Given the description of an element on the screen output the (x, y) to click on. 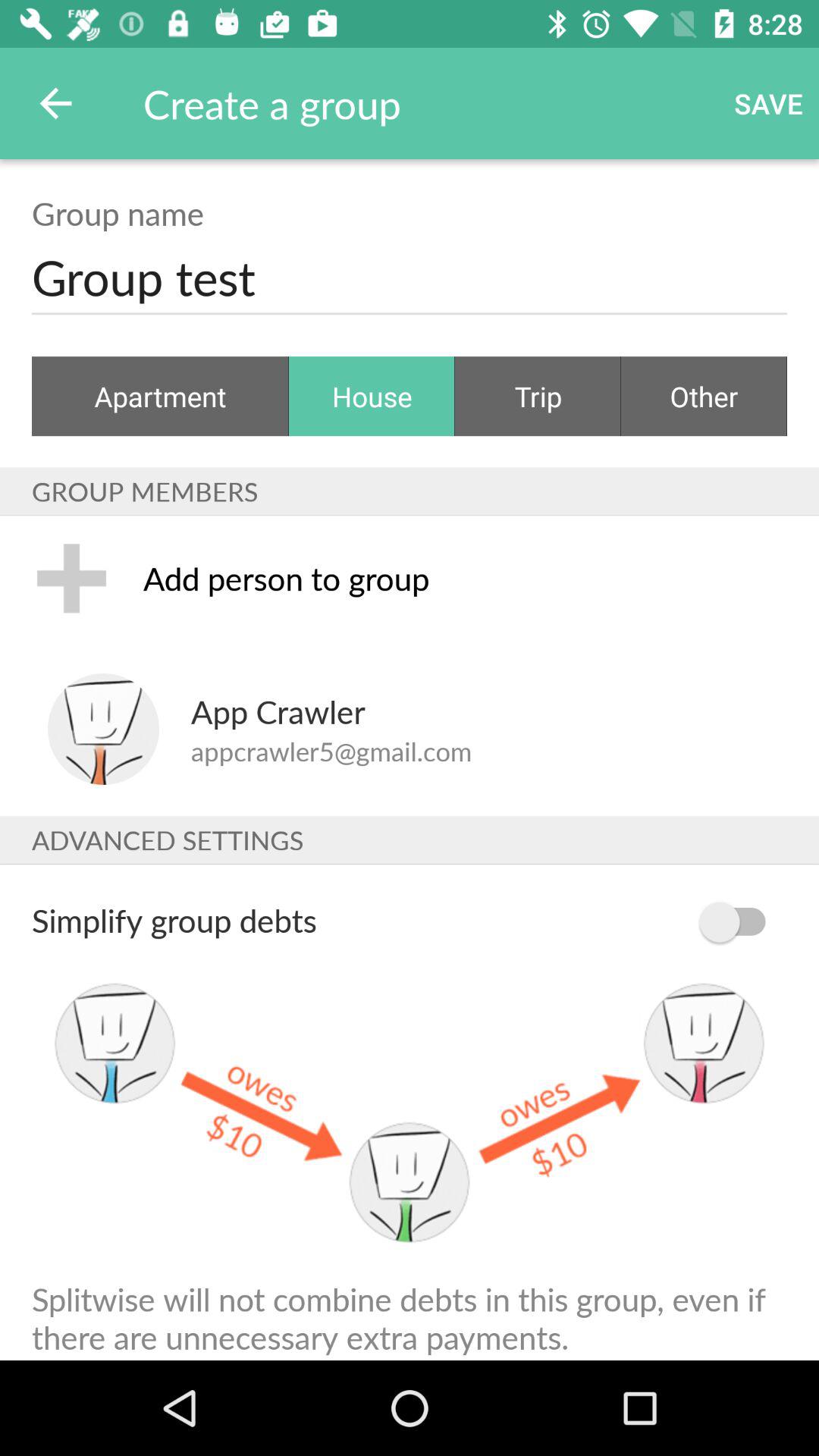
swipe until the save (768, 103)
